Given the description of an element on the screen output the (x, y) to click on. 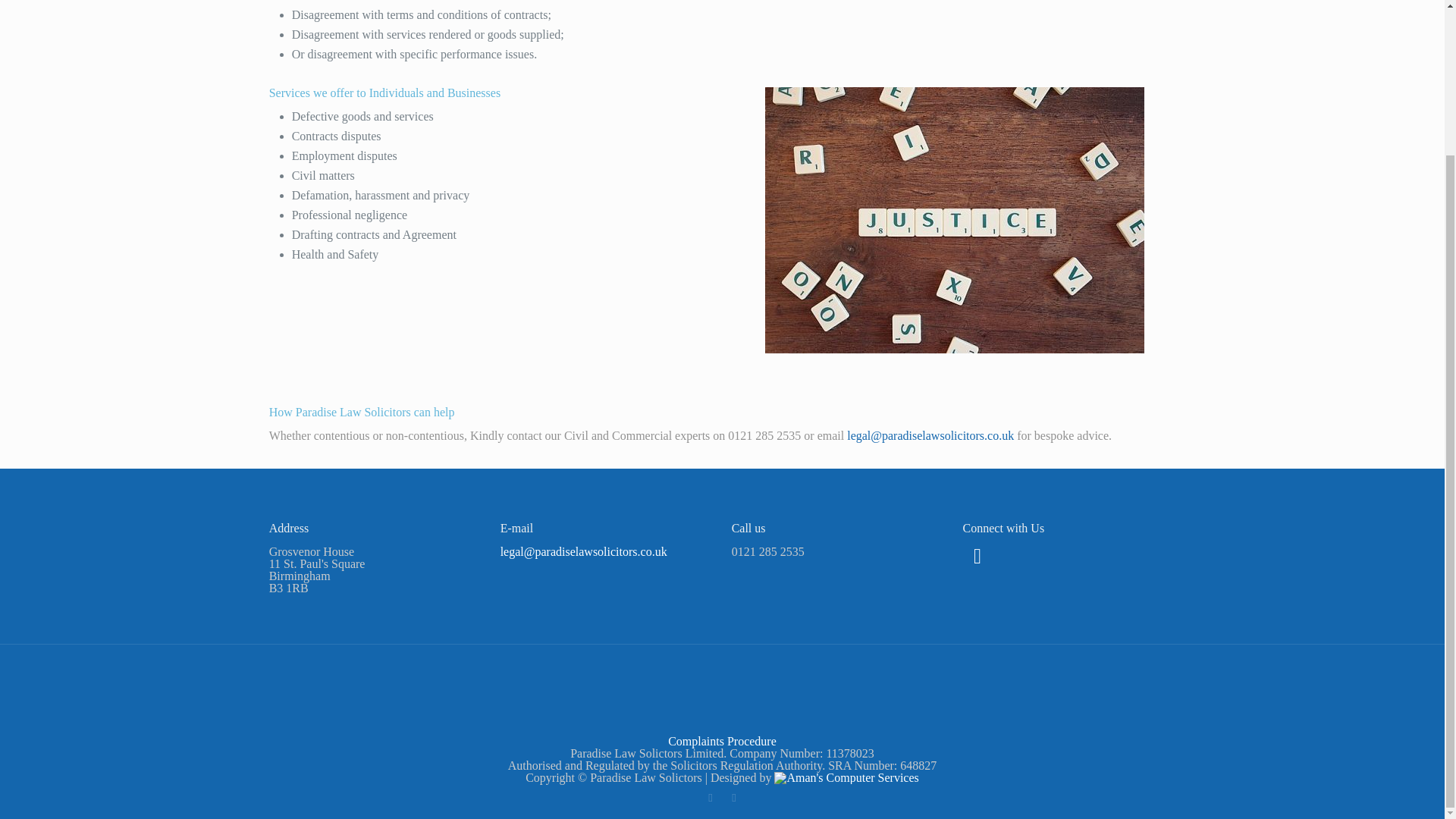
Complaints Procedure (722, 740)
Facebook (709, 797)
civillaw1 (954, 219)
